Given the description of an element on the screen output the (x, y) to click on. 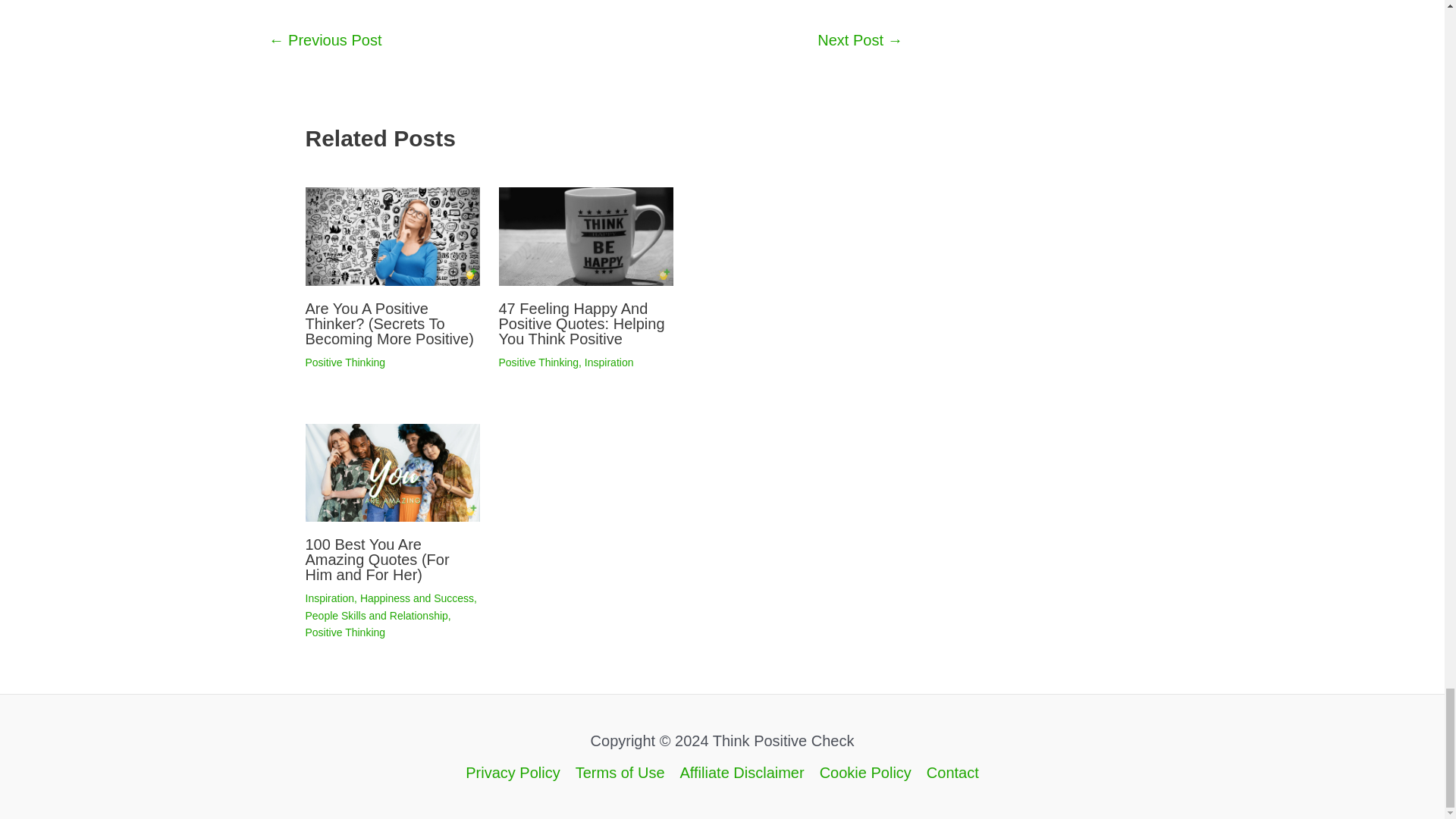
100 Words of Affirmation For Men (324, 39)
Positive Thinking (344, 362)
Positive Thinking (539, 362)
Inspiration (328, 598)
Inspiration (609, 362)
Positive Thinking (344, 632)
People Skills and Relationship (375, 615)
Happiness and Success (416, 598)
